Given the description of an element on the screen output the (x, y) to click on. 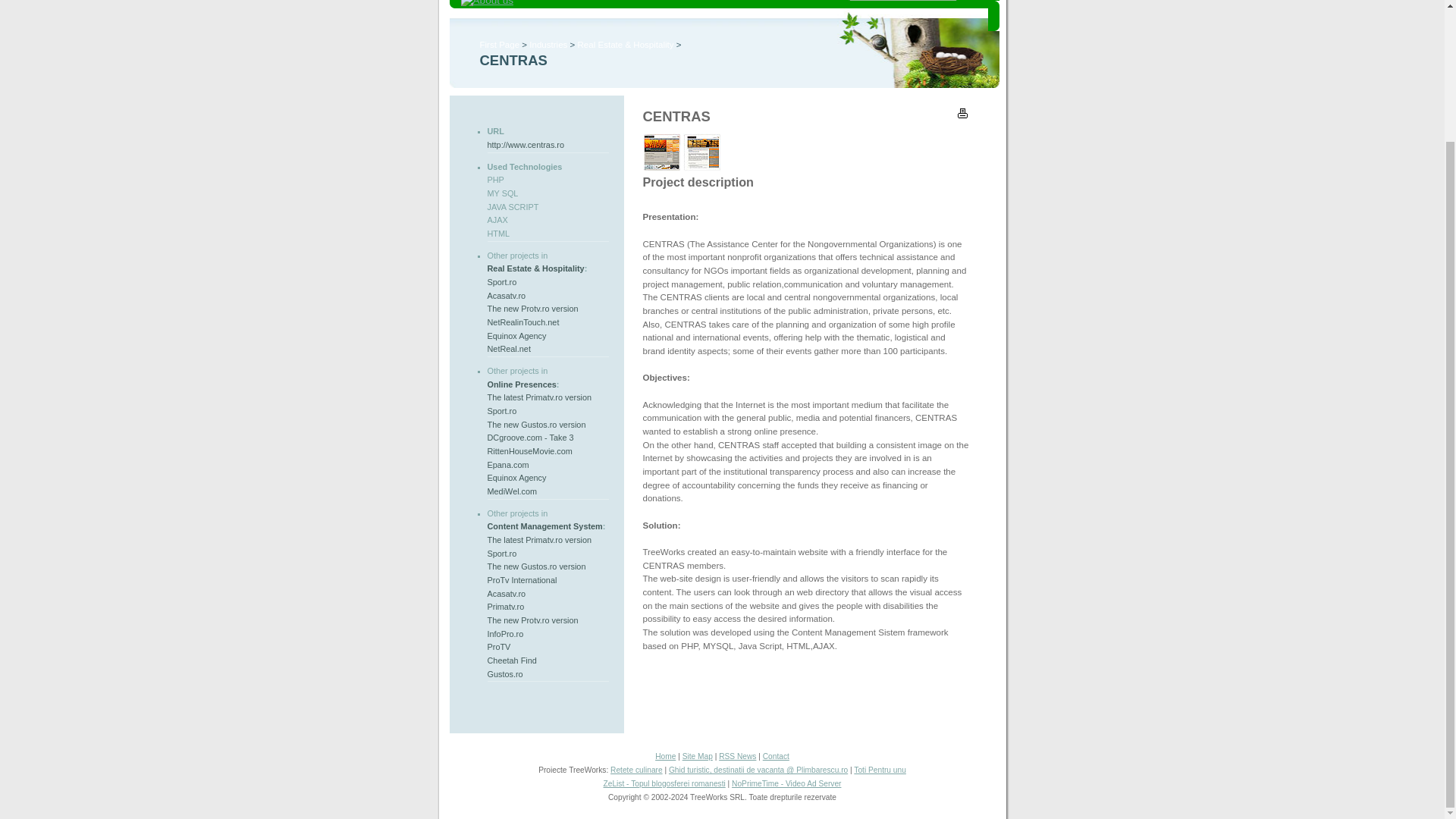
The new Gustos.ro version (535, 565)
The new Protv.ro version (532, 307)
MediWel.com (511, 491)
NetRealinTouch.net (522, 321)
The new Gustos.ro version (535, 424)
Acasatv.ro (505, 295)
Acasatv.ro (505, 593)
Equinox Agency (516, 335)
Online Presences (521, 384)
RittenHouseMovie.com (529, 450)
NetReal.net (507, 347)
The latest Primatv.ro version (538, 539)
Industries (548, 44)
Epana.com (507, 464)
ProTv International (521, 579)
